Given the description of an element on the screen output the (x, y) to click on. 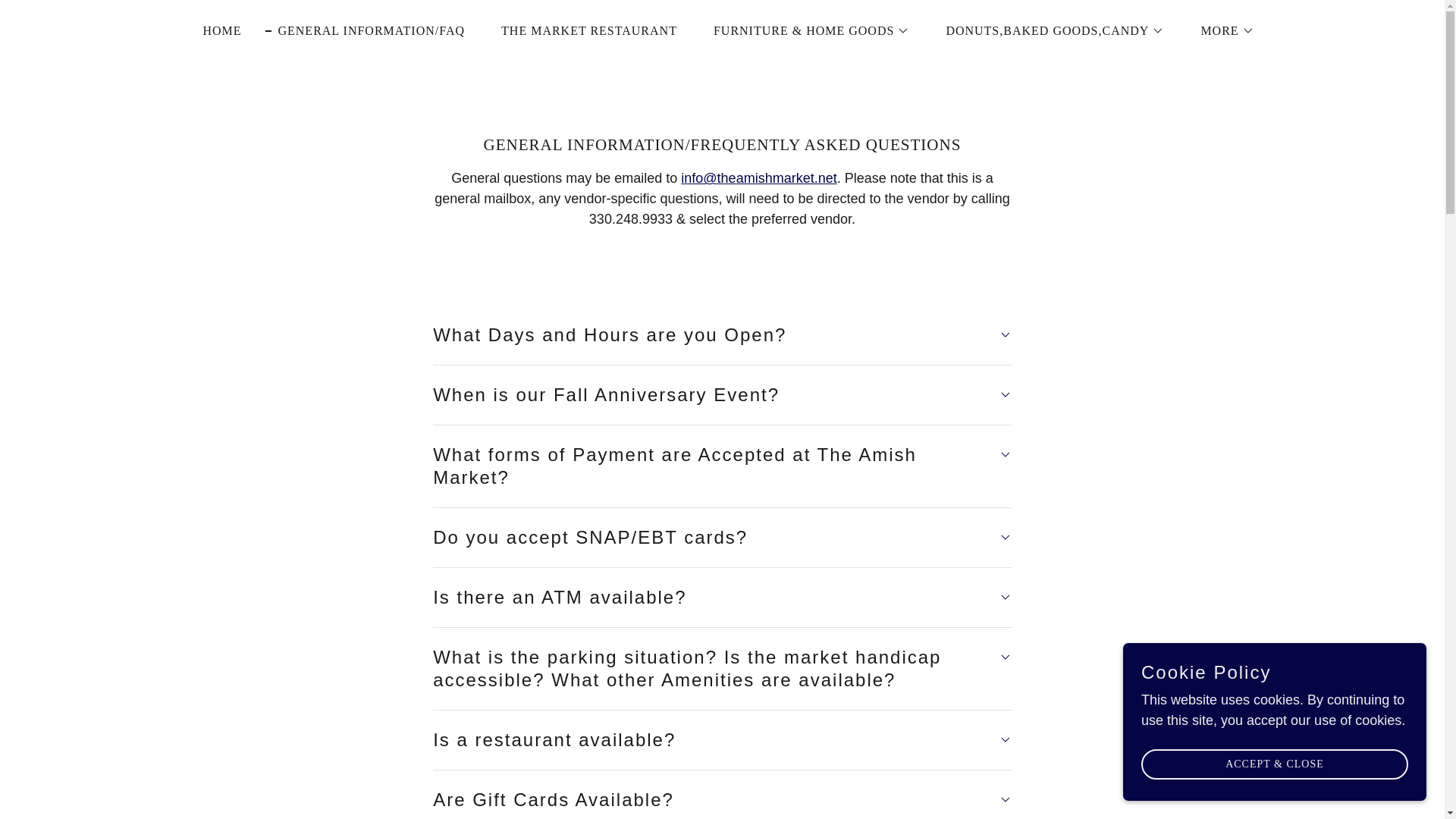
THE MARKET RESTAURANT (582, 31)
HOME (216, 31)
MORE (1220, 31)
DONUTS,BAKED GOODS,CANDY (1048, 31)
